Given the description of an element on the screen output the (x, y) to click on. 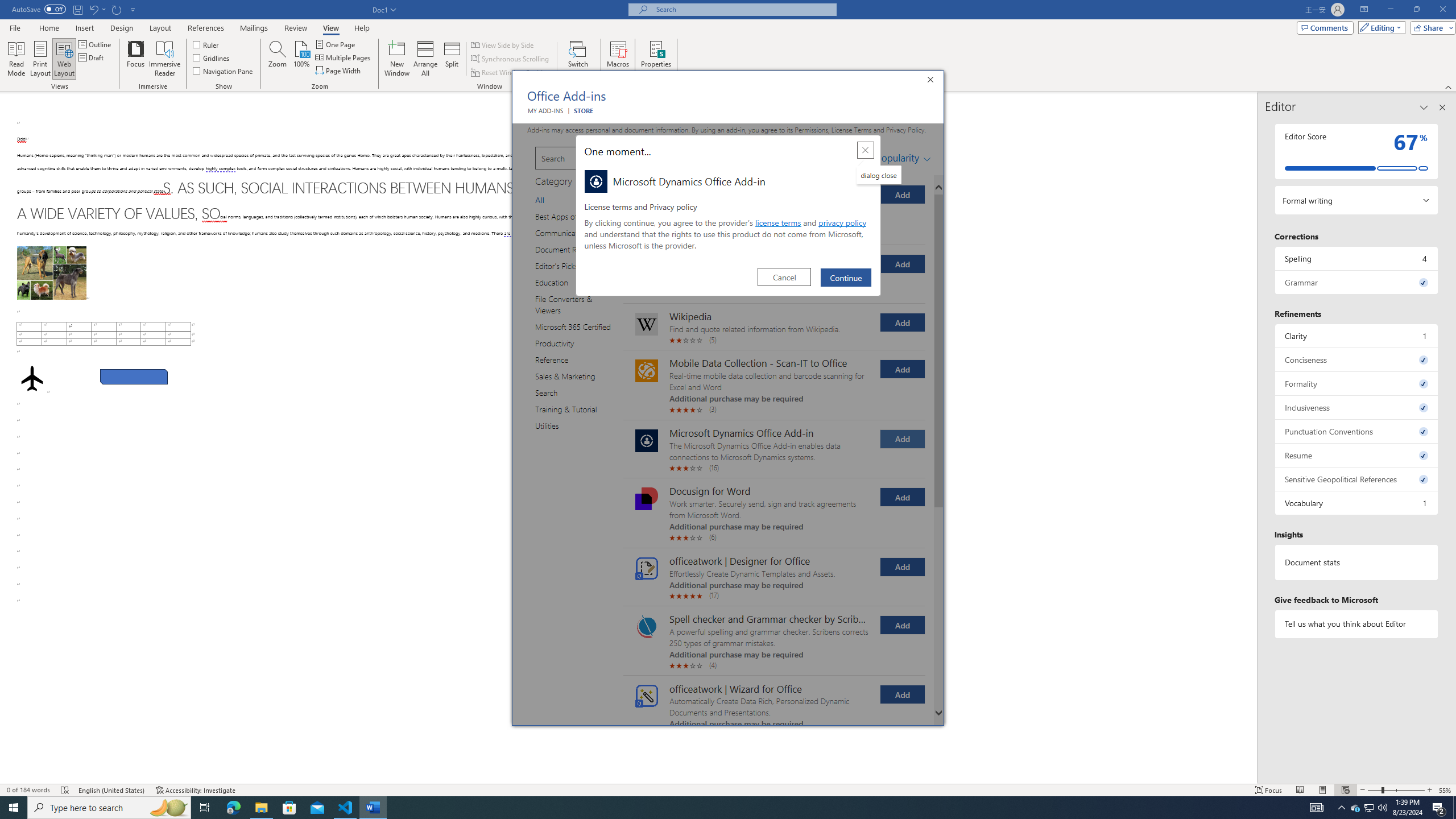
One Page (335, 44)
Draft (91, 56)
